Given the description of an element on the screen output the (x, y) to click on. 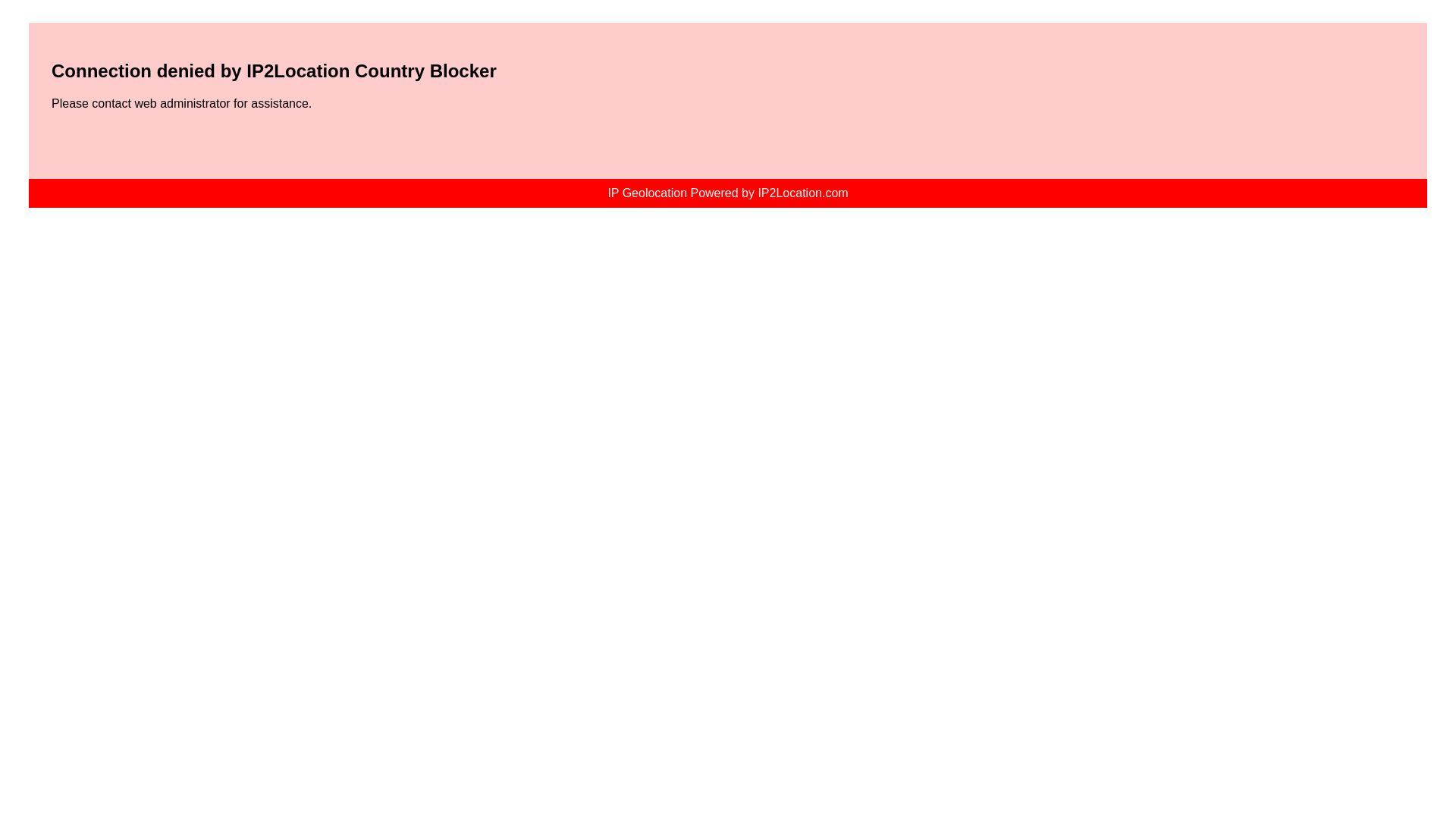
IP Geolocation Powered by IP2Location.com (727, 192)
